Given the description of an element on the screen output the (x, y) to click on. 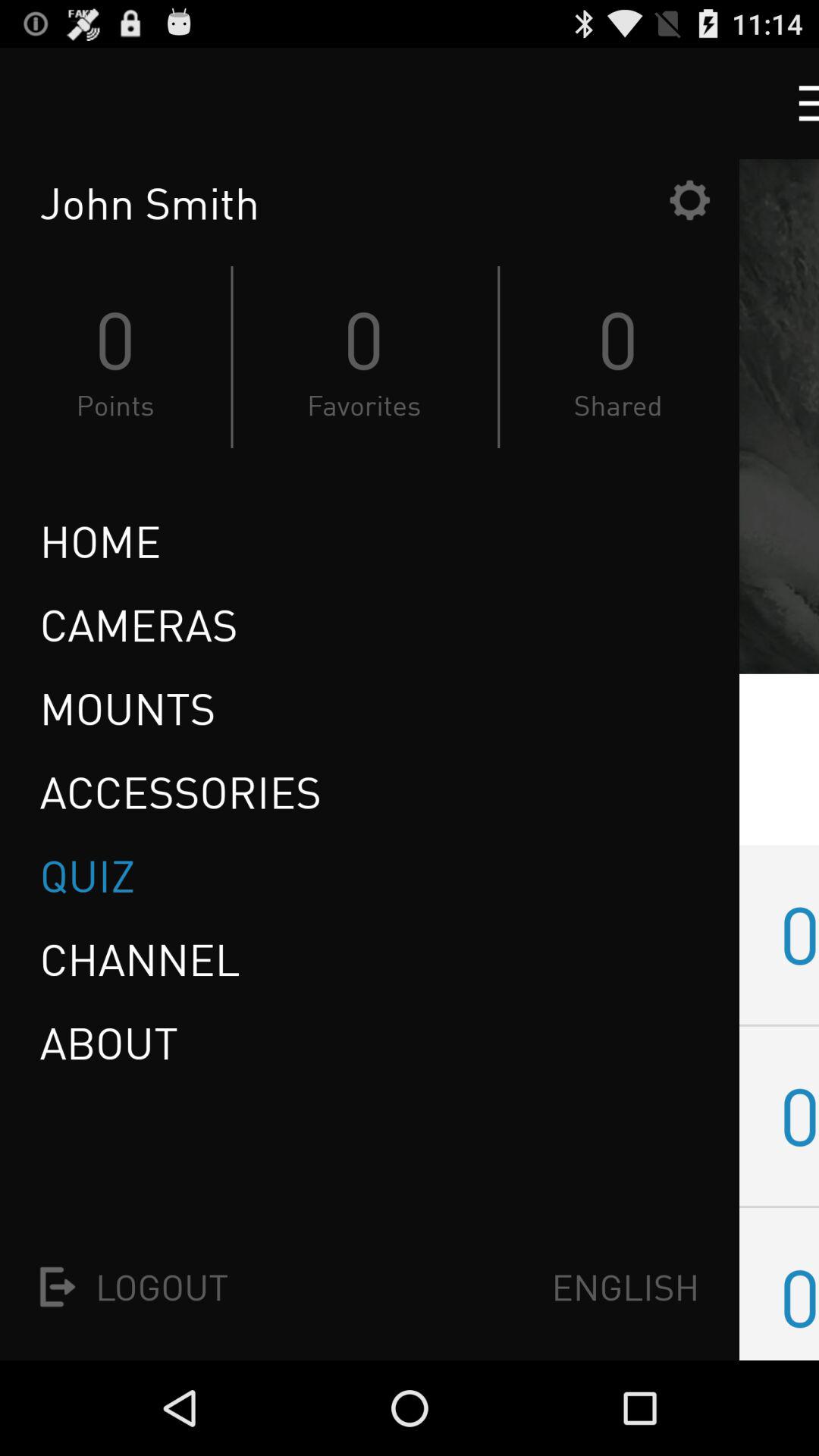
see more options (795, 102)
